Given the description of an element on the screen output the (x, y) to click on. 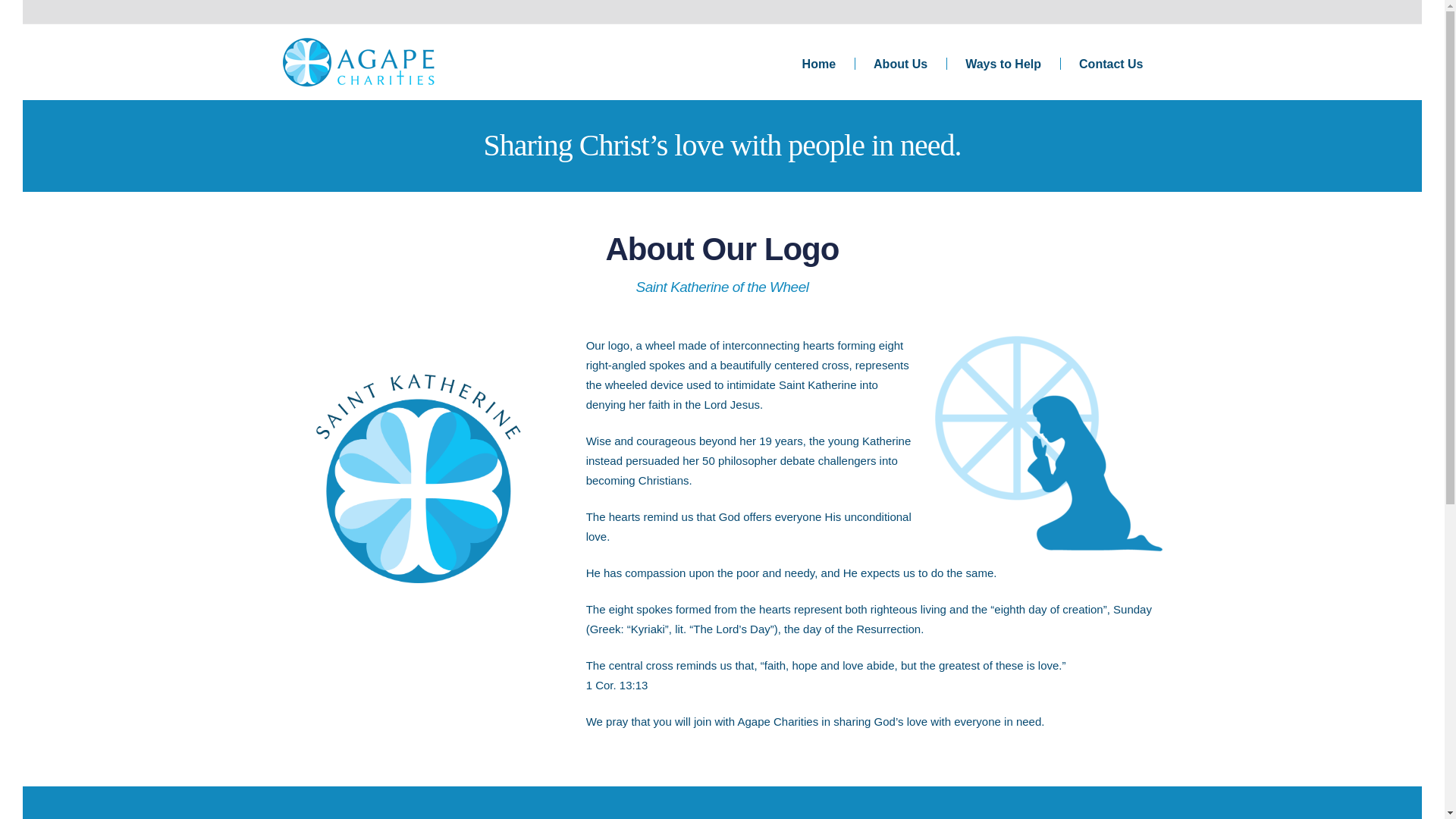
About Us (900, 61)
Contact Us (1110, 61)
Ways to Help (1002, 61)
Home (818, 61)
